Given the description of an element on the screen output the (x, y) to click on. 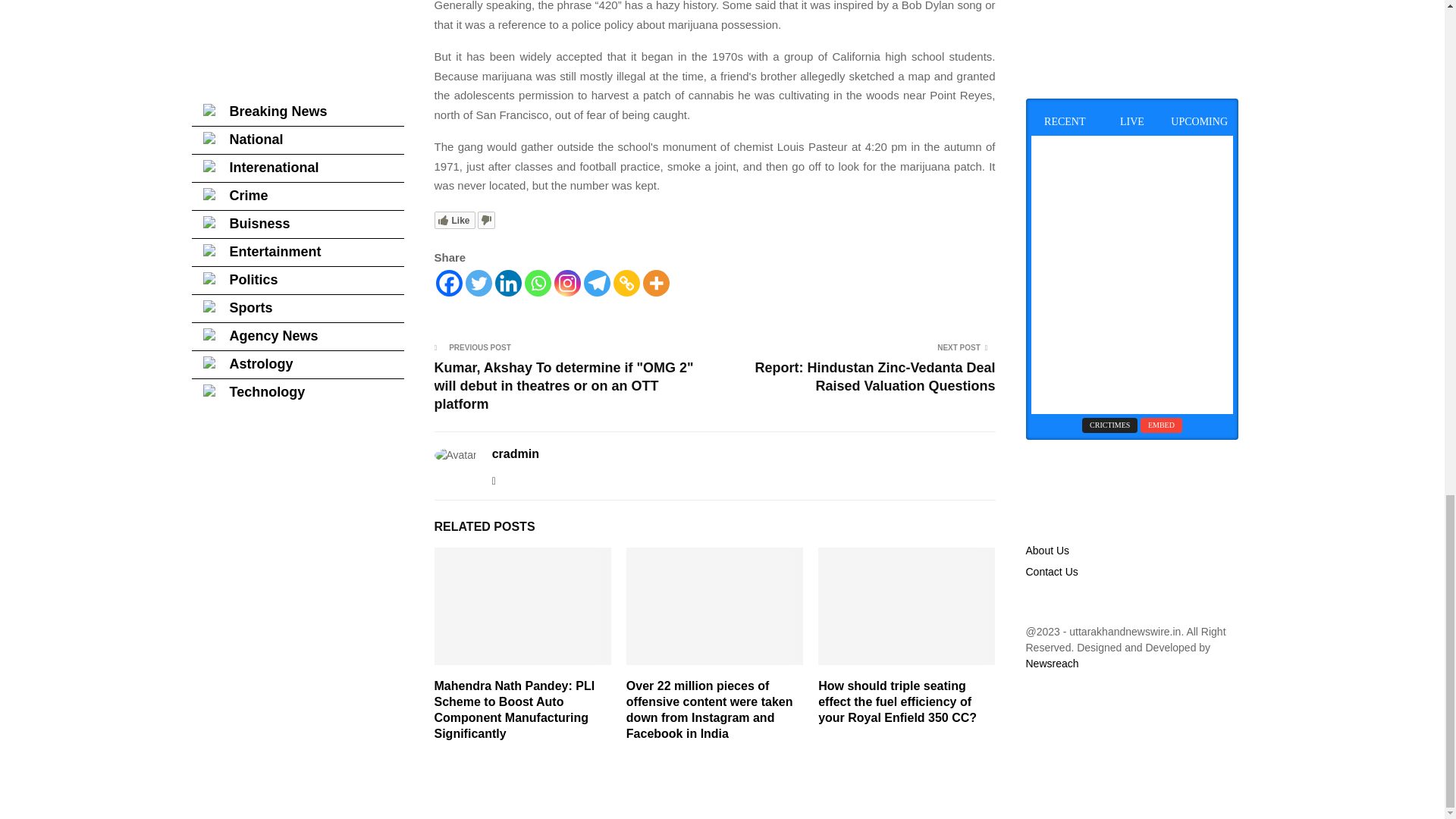
Facebook (448, 283)
